Given the description of an element on the screen output the (x, y) to click on. 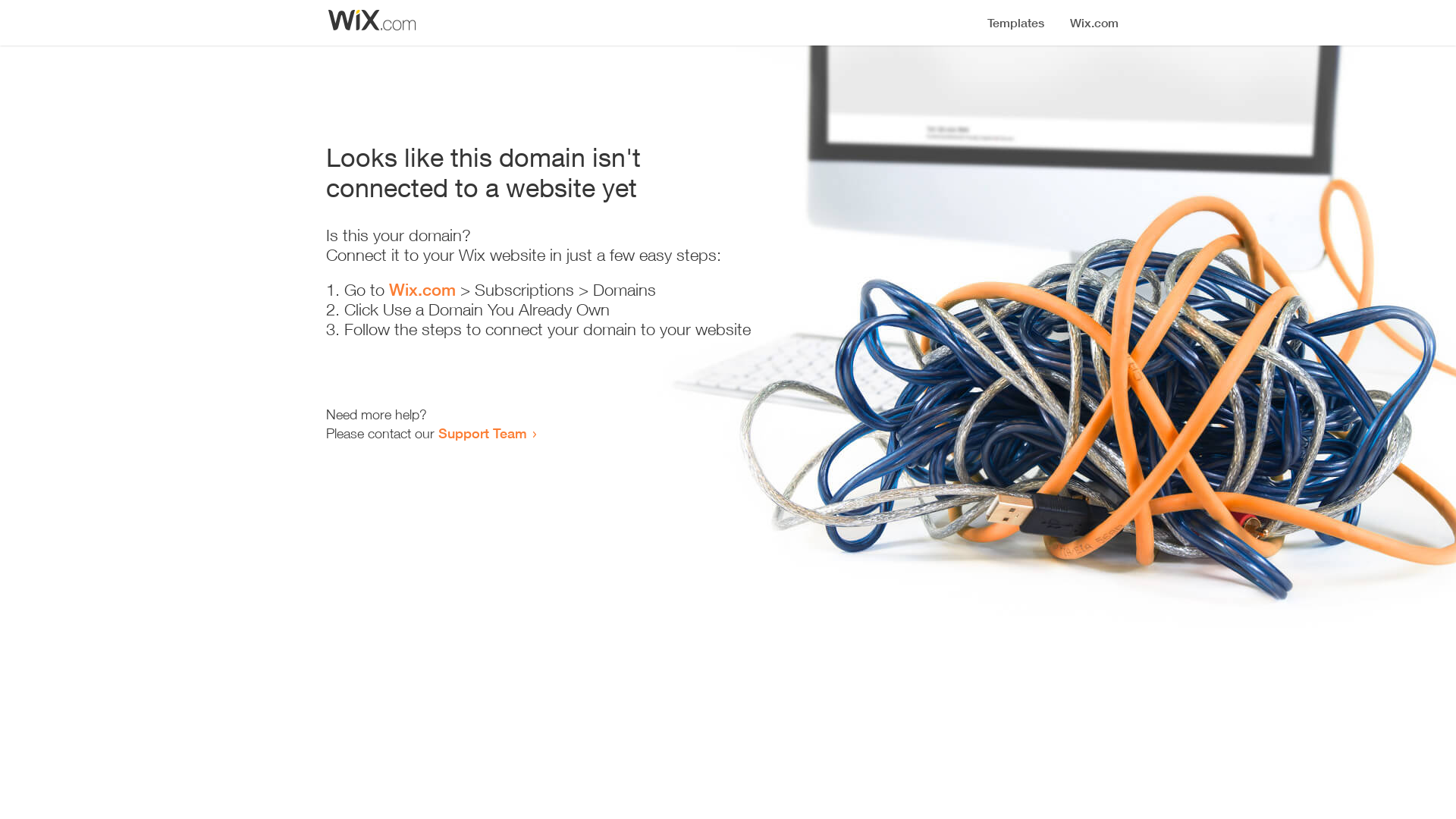
Wix.com Element type: text (422, 289)
Support Team Element type: text (482, 432)
